Given the description of an element on the screen output the (x, y) to click on. 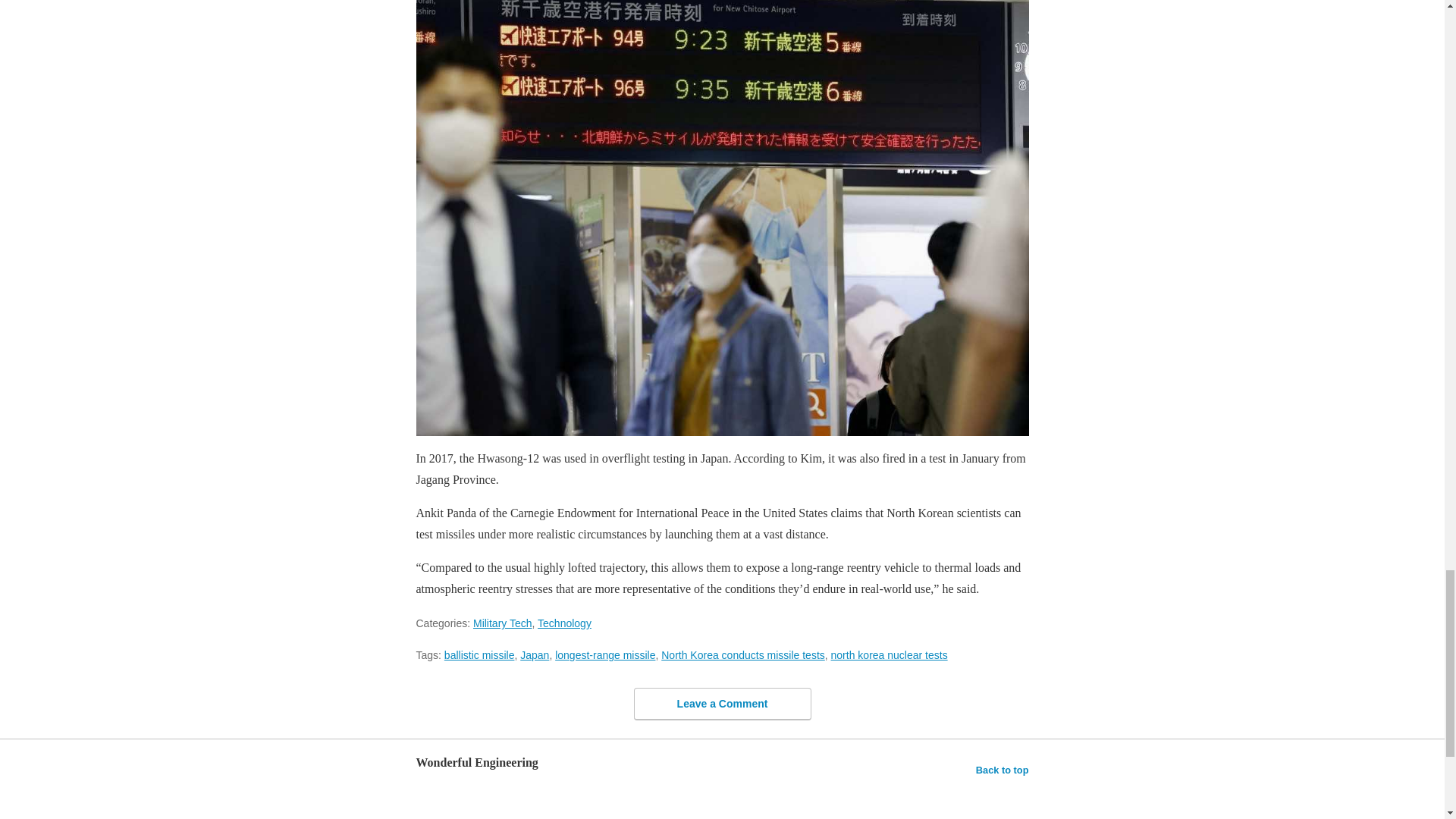
north korea nuclear tests (889, 654)
North Korea conducts missile tests (743, 654)
Technology (564, 623)
longest-range missile (604, 654)
Military Tech (502, 623)
Back to top (1002, 770)
Leave a Comment (721, 703)
Japan (533, 654)
ballistic missile (479, 654)
